Given the description of an element on the screen output the (x, y) to click on. 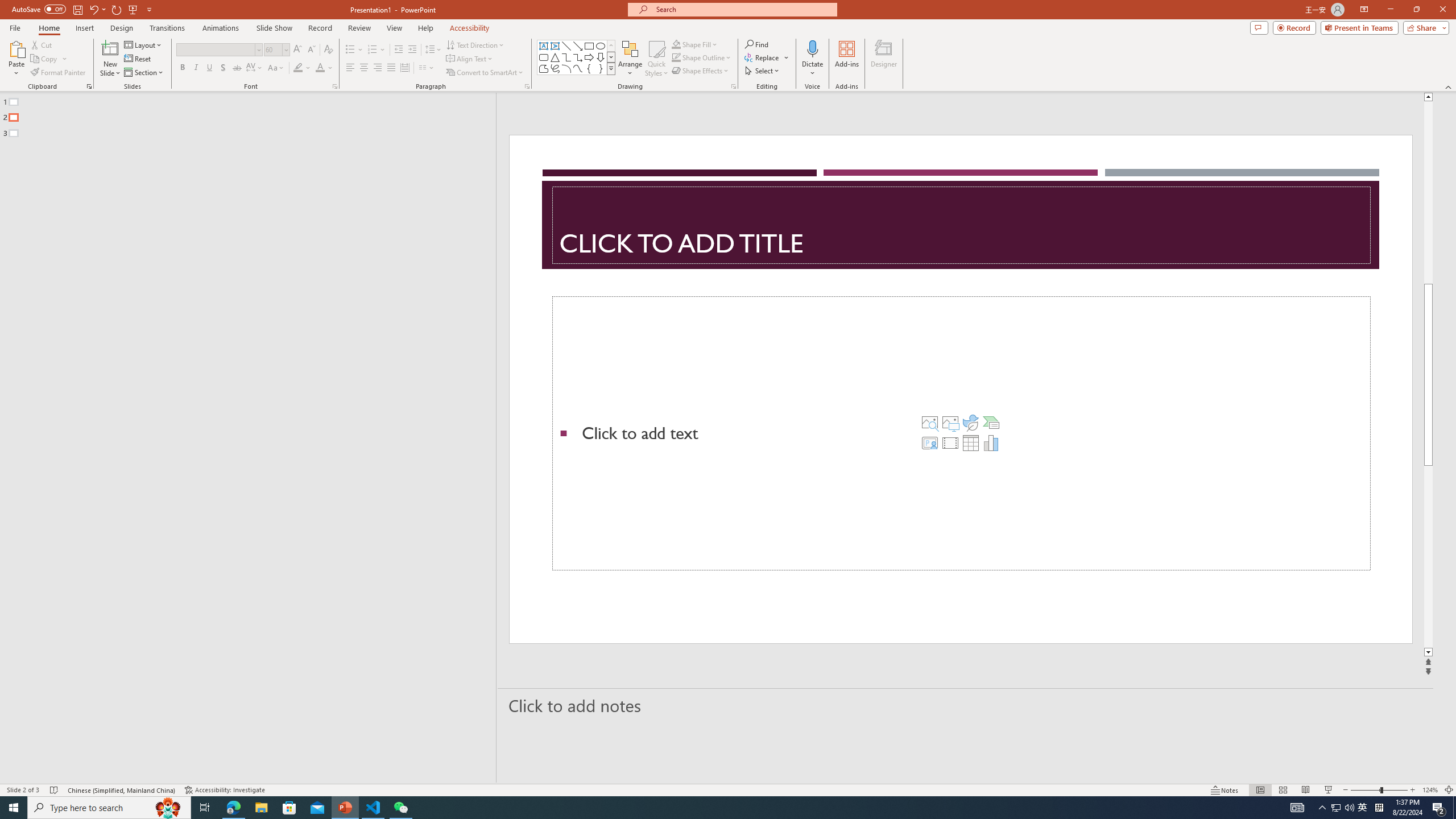
Outline (252, 114)
